Given the description of an element on the screen output the (x, y) to click on. 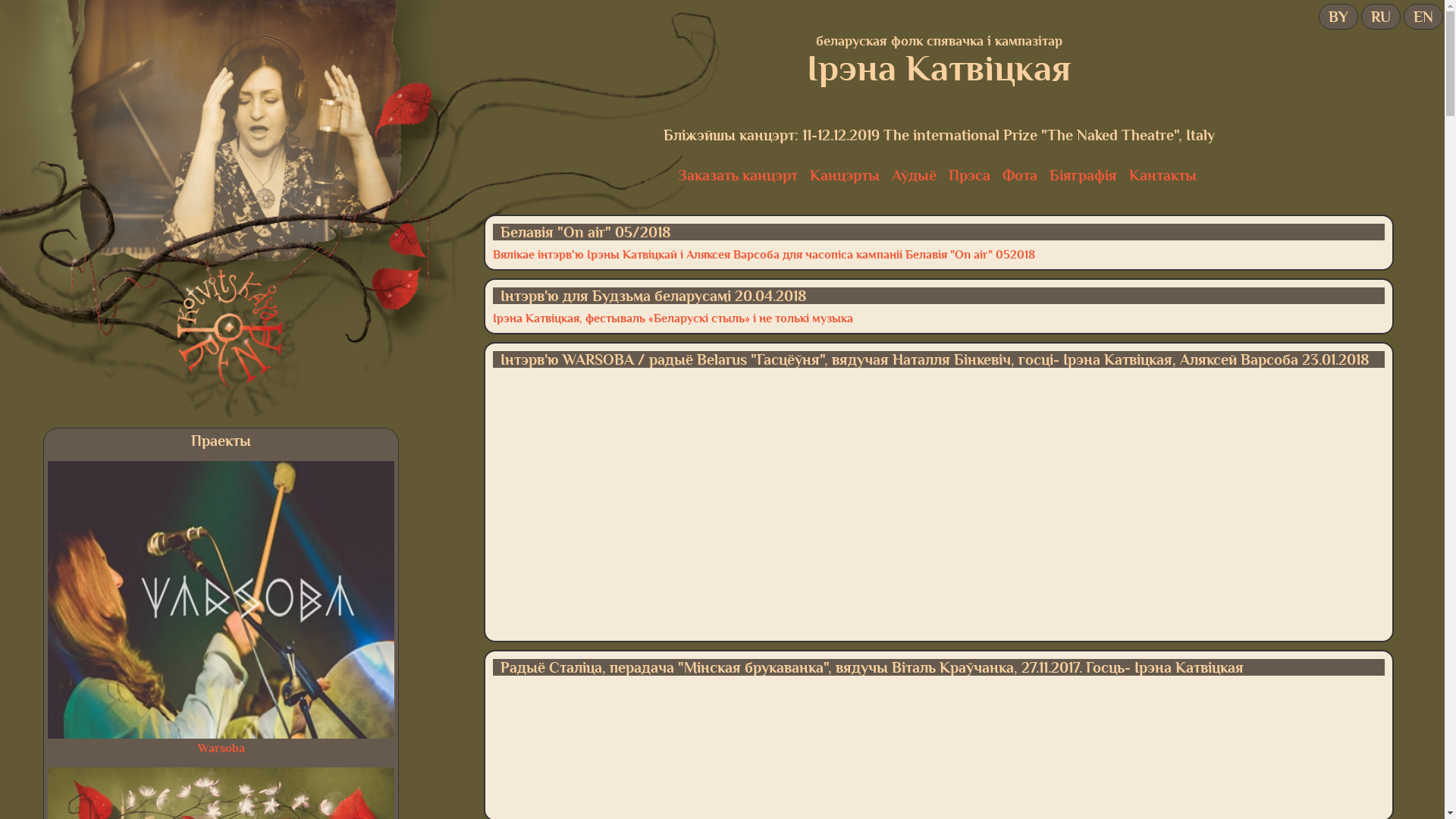
BY Element type: text (1338, 16)
Warsoba Element type: text (220, 748)
EN Element type: text (1423, 16)
RU Element type: text (1380, 16)
